Given the description of an element on the screen output the (x, y) to click on. 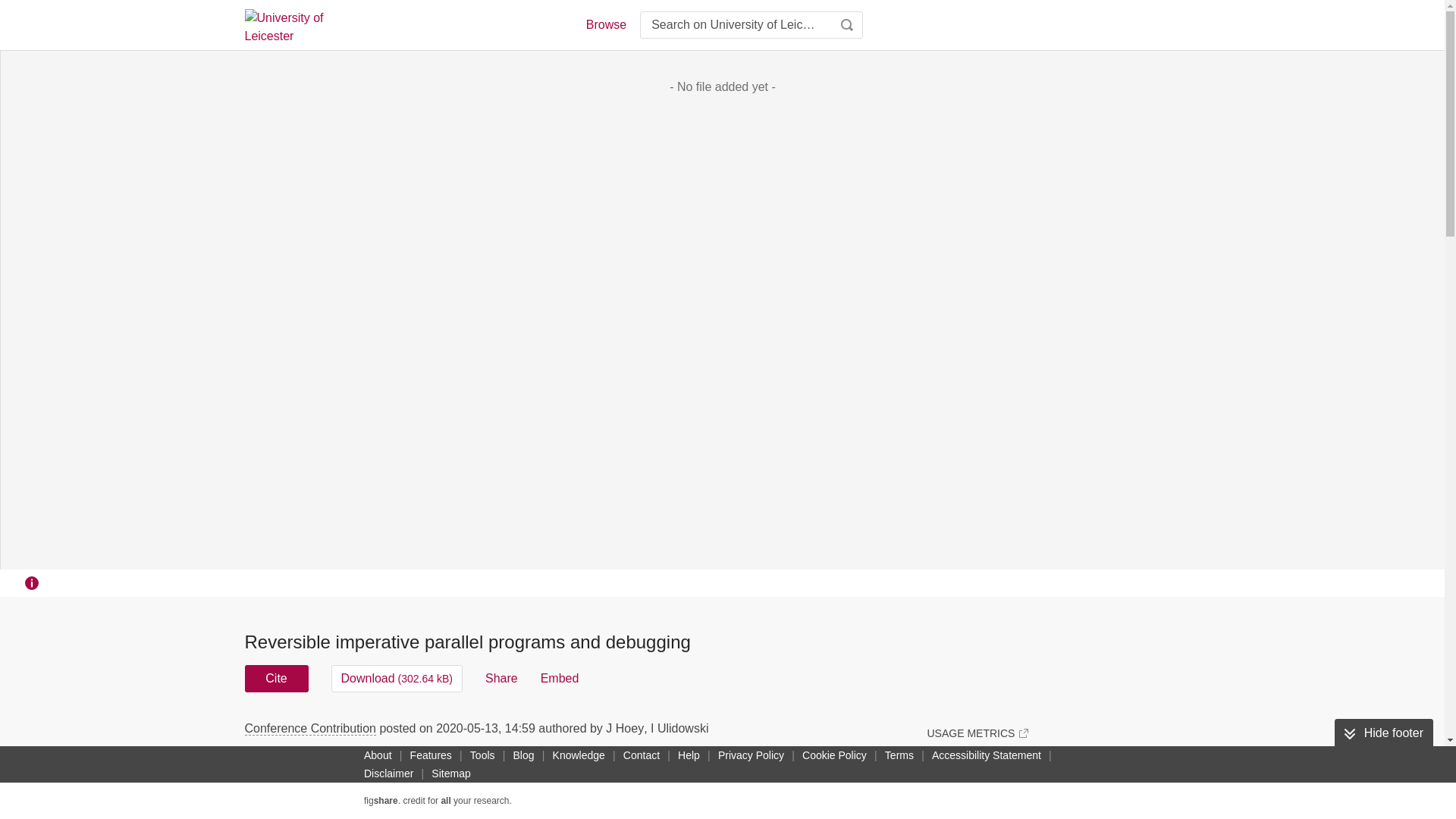
Features (431, 755)
Hide footer (1383, 733)
About (377, 755)
Terms (899, 755)
Tools (482, 755)
Help (688, 755)
Blog (523, 755)
Share (501, 678)
Accessibility Statement (986, 755)
Privacy Policy (751, 755)
